Given the description of an element on the screen output the (x, y) to click on. 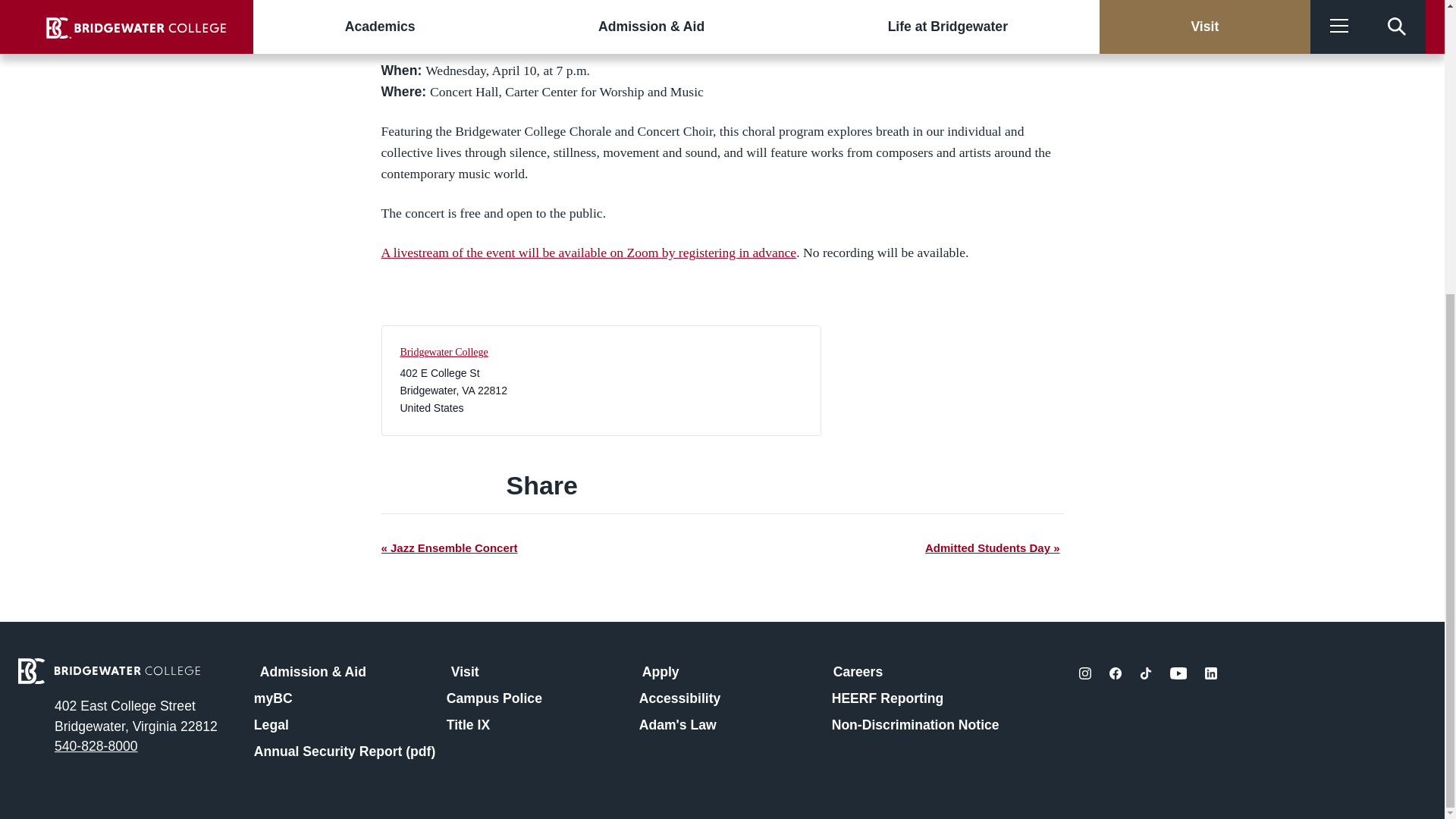
social-youtube (1178, 673)
social-instagram-fill (1084, 673)
social-facebook (1115, 673)
Bridgewater College (443, 351)
